Given the description of an element on the screen output the (x, y) to click on. 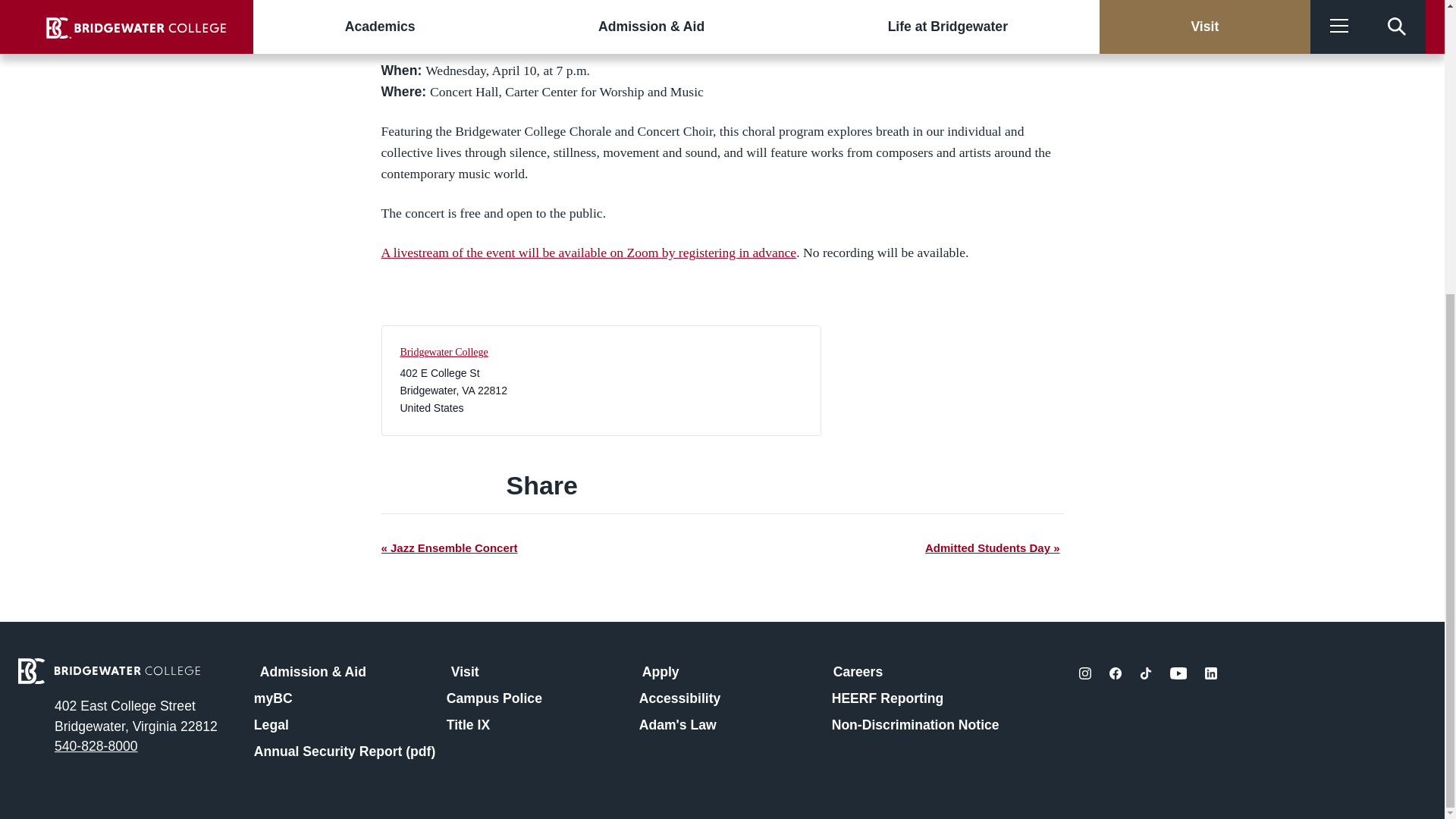
social-youtube (1178, 673)
social-instagram-fill (1084, 673)
social-facebook (1115, 673)
Bridgewater College (443, 351)
